Given the description of an element on the screen output the (x, y) to click on. 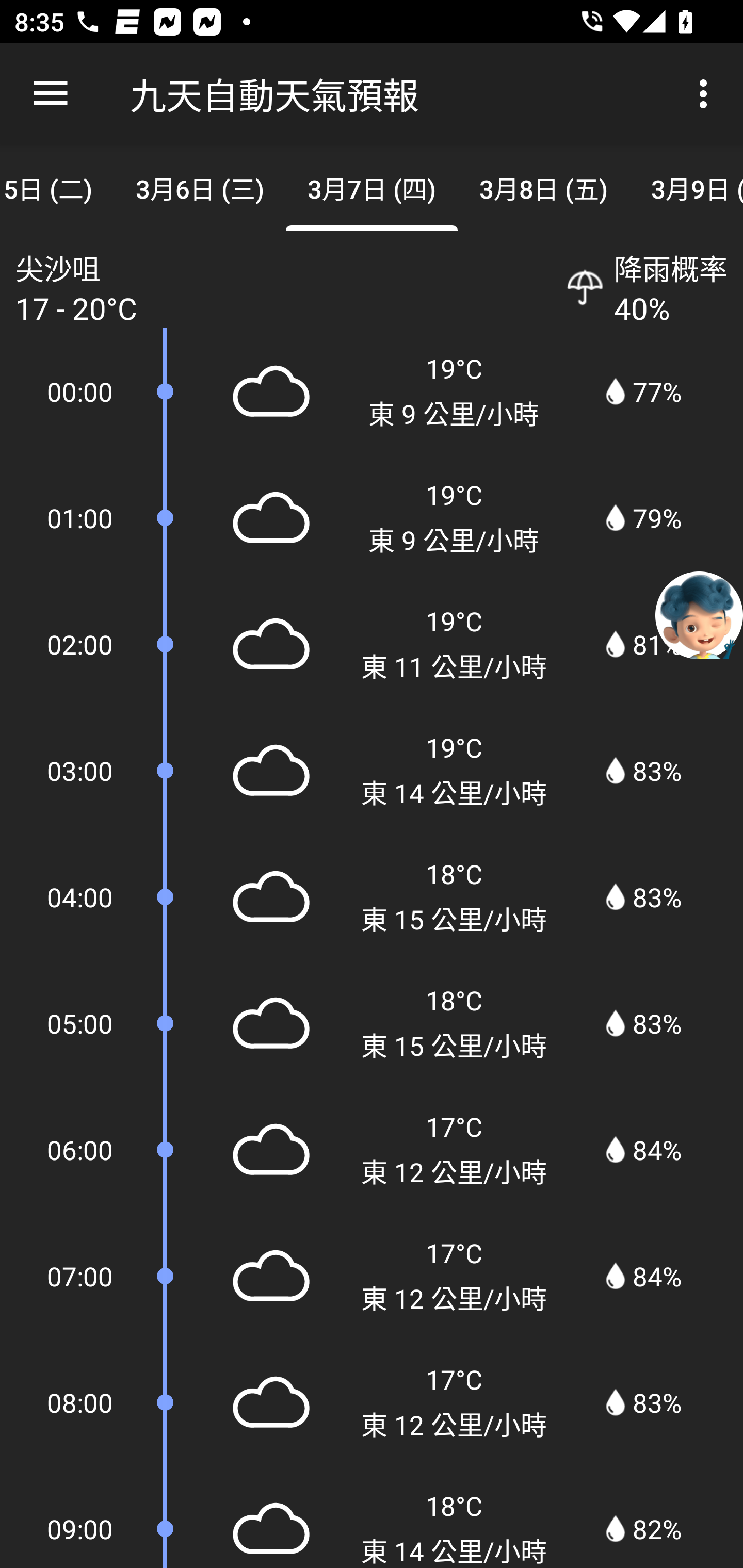
向上瀏覽 (50, 93)
更多選項 (706, 93)
3月6日 (三) (199, 187)
3月8日 (五) (543, 187)
3月9日 (六) (686, 187)
聊天機械人 (699, 614)
